Given the description of an element on the screen output the (x, y) to click on. 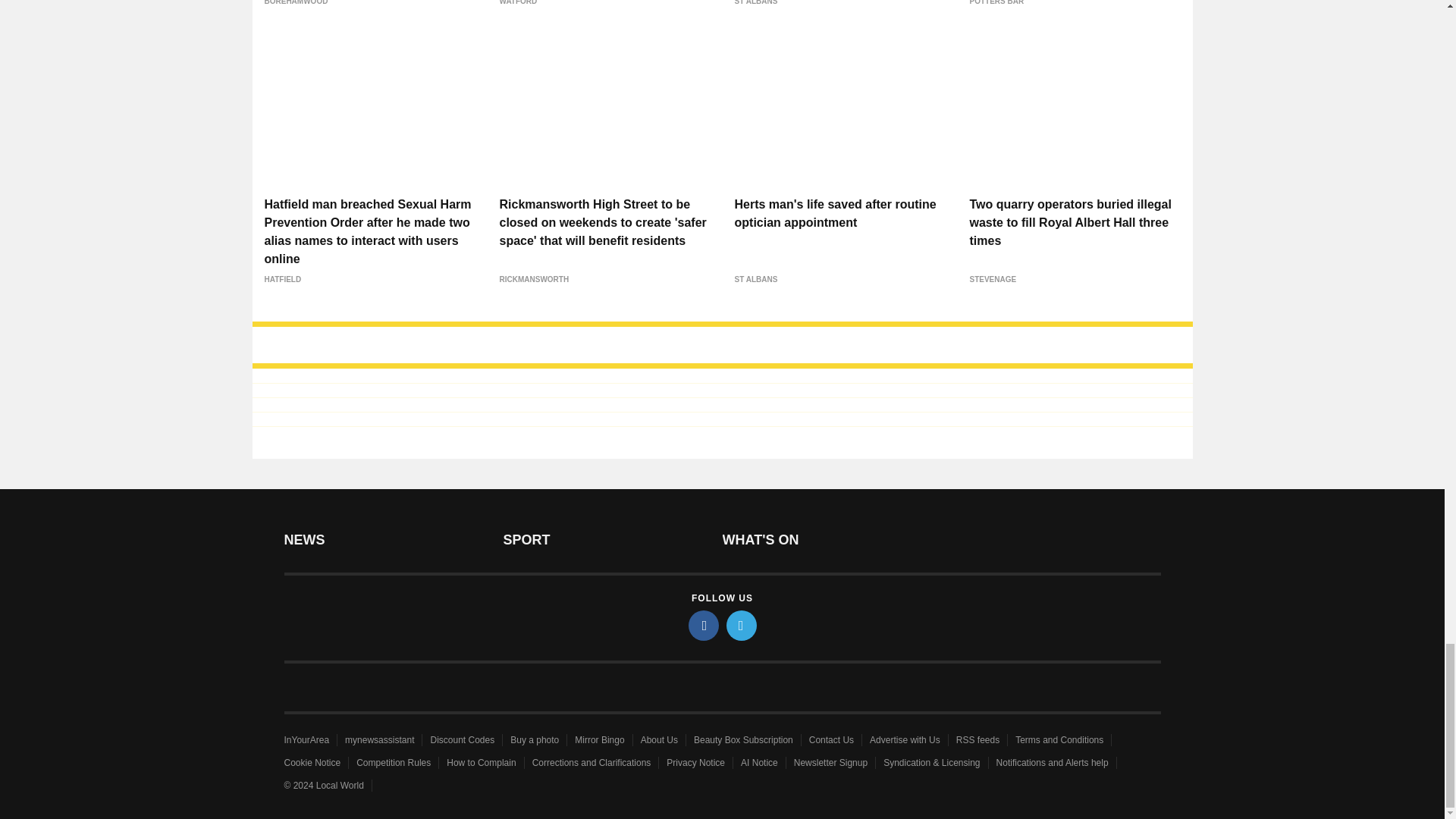
twitter (741, 625)
facebook (703, 625)
